Given the description of an element on the screen output the (x, y) to click on. 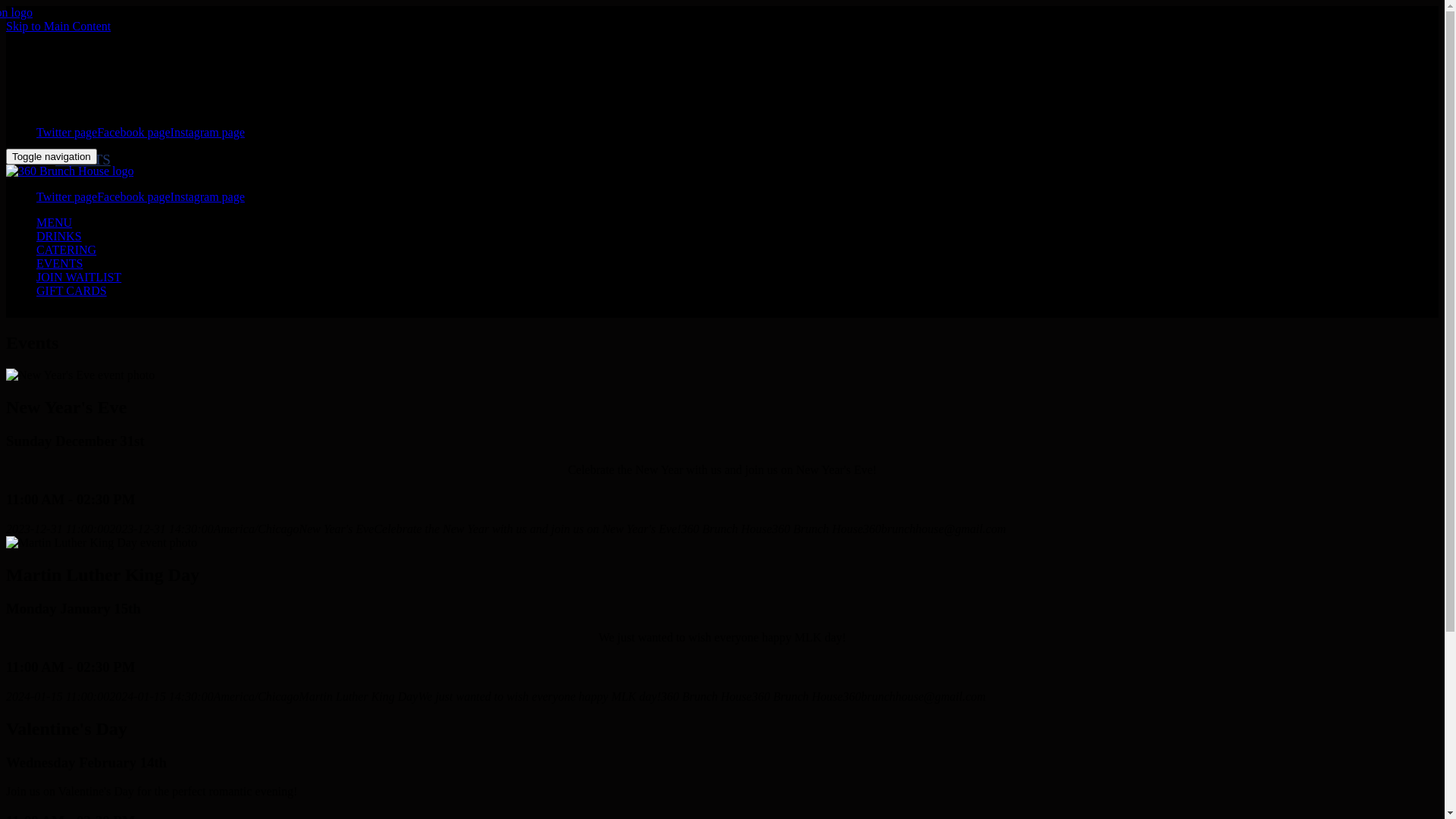
Skip to Main Content Element type: text (58, 25)
MENU Element type: text (76, 71)
Twitter page Element type: text (66, 131)
CATERING Element type: text (66, 249)
GIFT CARDS Element type: text (96, 192)
DRINKS Element type: text (58, 235)
Instagram page Element type: text (207, 196)
JOIN WAITLIST Element type: text (78, 276)
Facebook page Element type: text (133, 196)
MENU Element type: text (54, 222)
CATERING Element type: text (90, 104)
GIFT CARDS Element type: text (71, 290)
EVENTS Element type: text (59, 263)
Toggle navigation Element type: text (51, 156)
DRINKS Element type: text (82, 87)
Facebook page Element type: text (133, 131)
Instagram page Element type: text (207, 131)
Twitter page Element type: text (66, 196)
JOIN WAITLIST Element type: text (105, 175)
EVENTS Element type: text (82, 159)
